Given the description of an element on the screen output the (x, y) to click on. 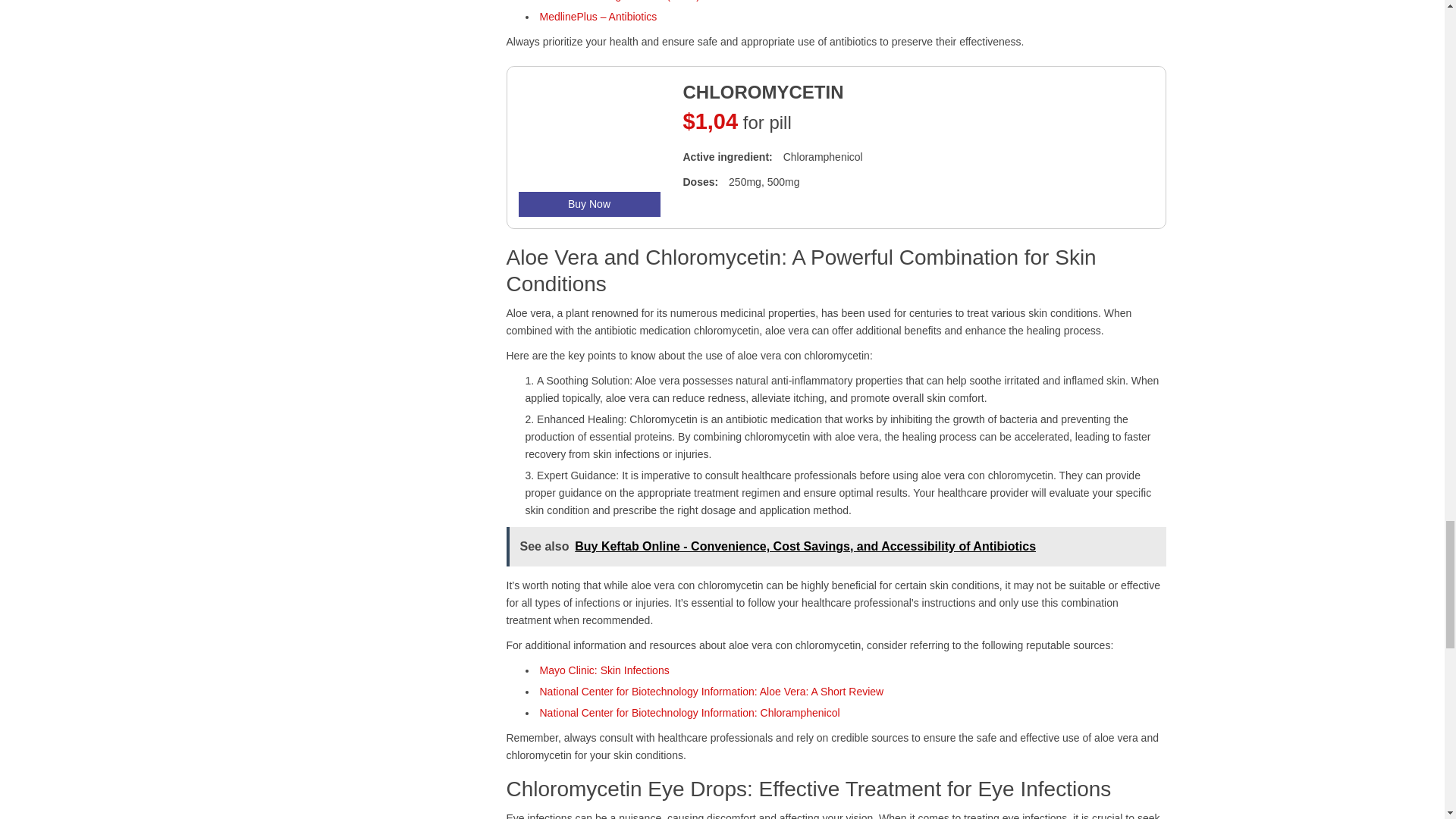
Buy Now (589, 204)
Mayo Clinic: Skin Infections (604, 670)
Buy Now (589, 204)
